Given the description of an element on the screen output the (x, y) to click on. 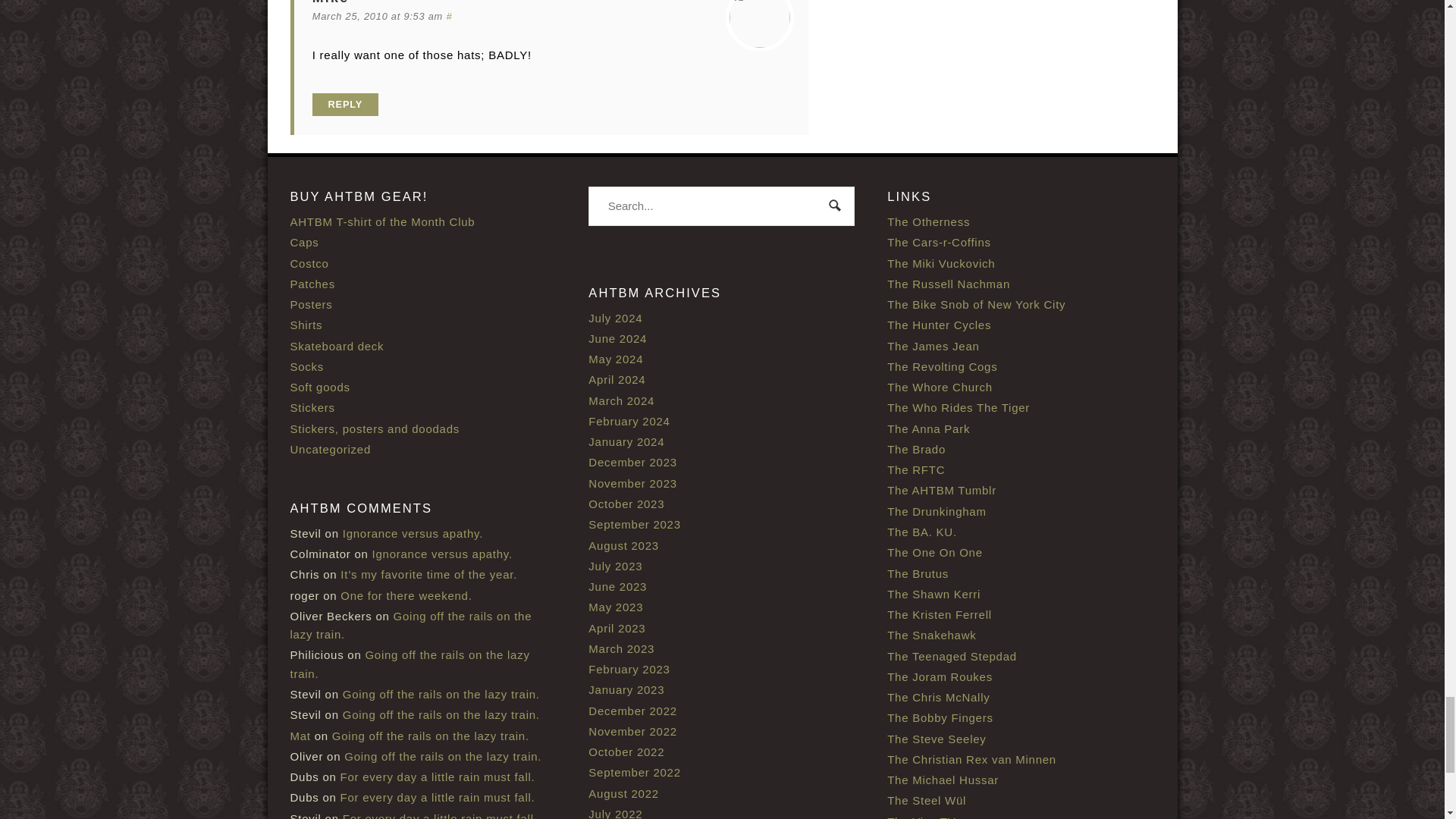
Search (836, 206)
Search (836, 206)
